Given the description of an element on the screen output the (x, y) to click on. 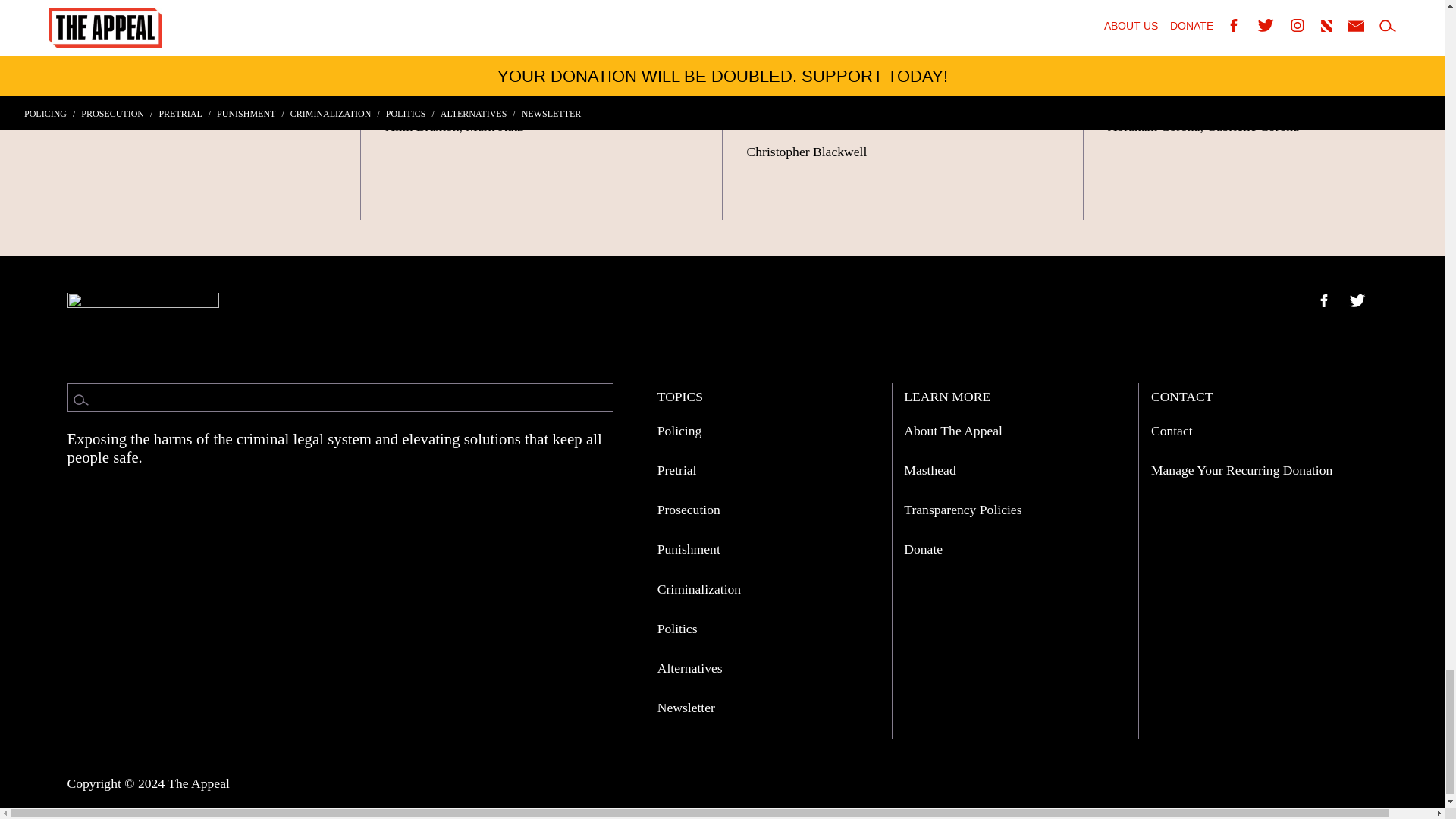
Prosecution (689, 509)
Pretrial (677, 469)
Policing (679, 430)
